Given the description of an element on the screen output the (x, y) to click on. 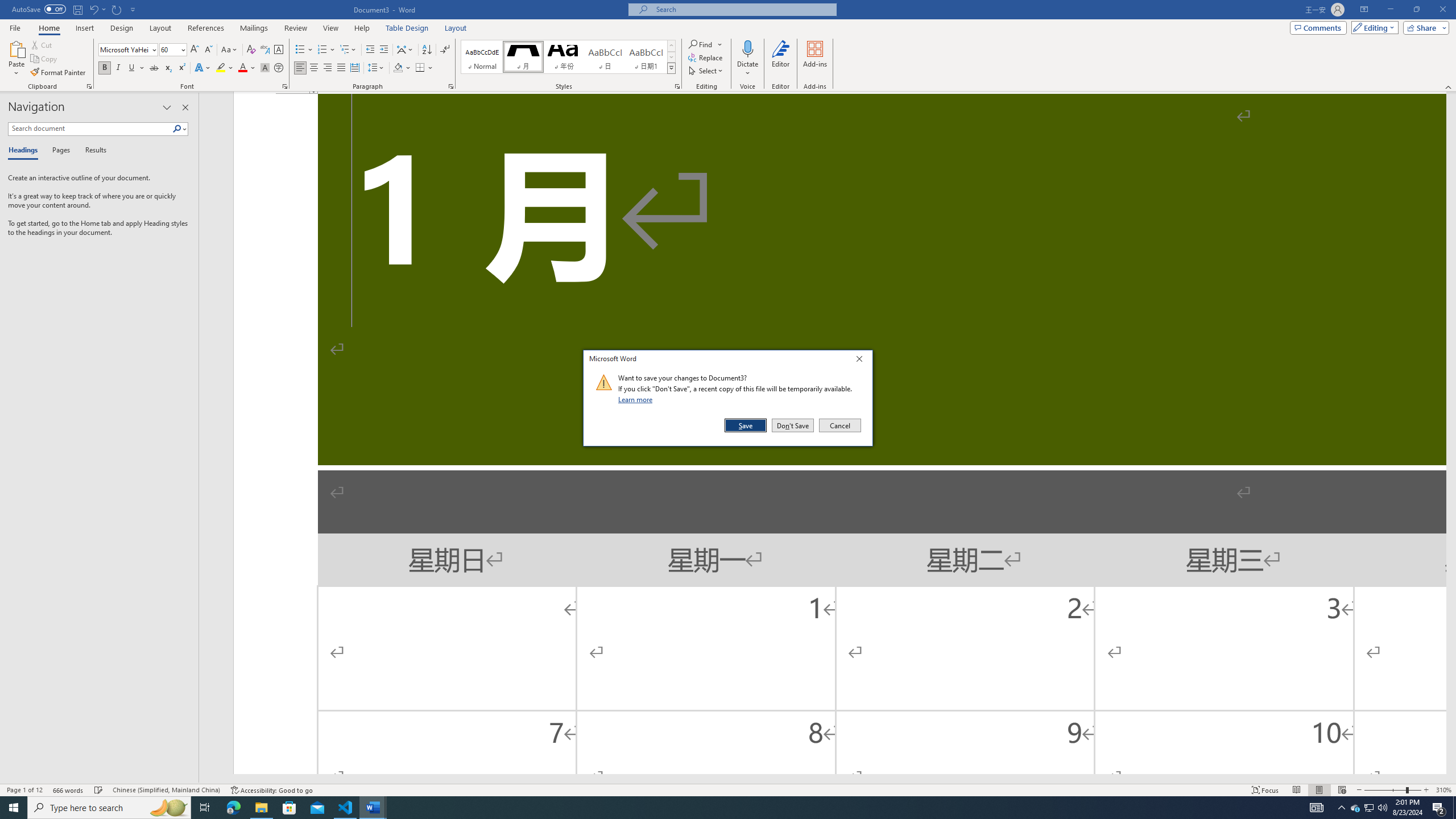
Don't Save (792, 425)
AutomationID: QuickStylesGallery (568, 56)
Repeat Increase Indent (117, 9)
